Given the description of an element on the screen output the (x, y) to click on. 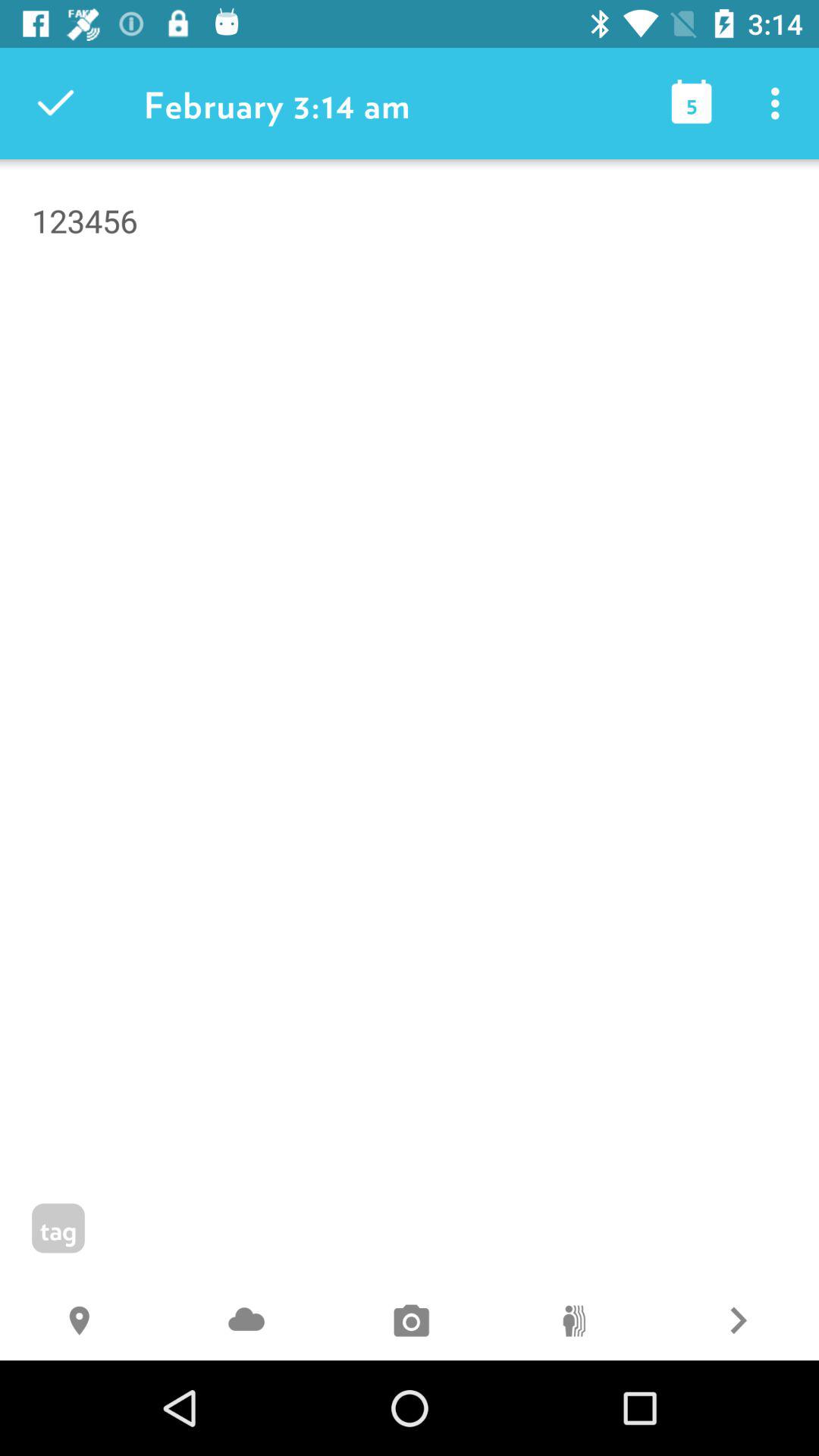
press the icon next to february 3 14 item (691, 103)
